Given the description of an element on the screen output the (x, y) to click on. 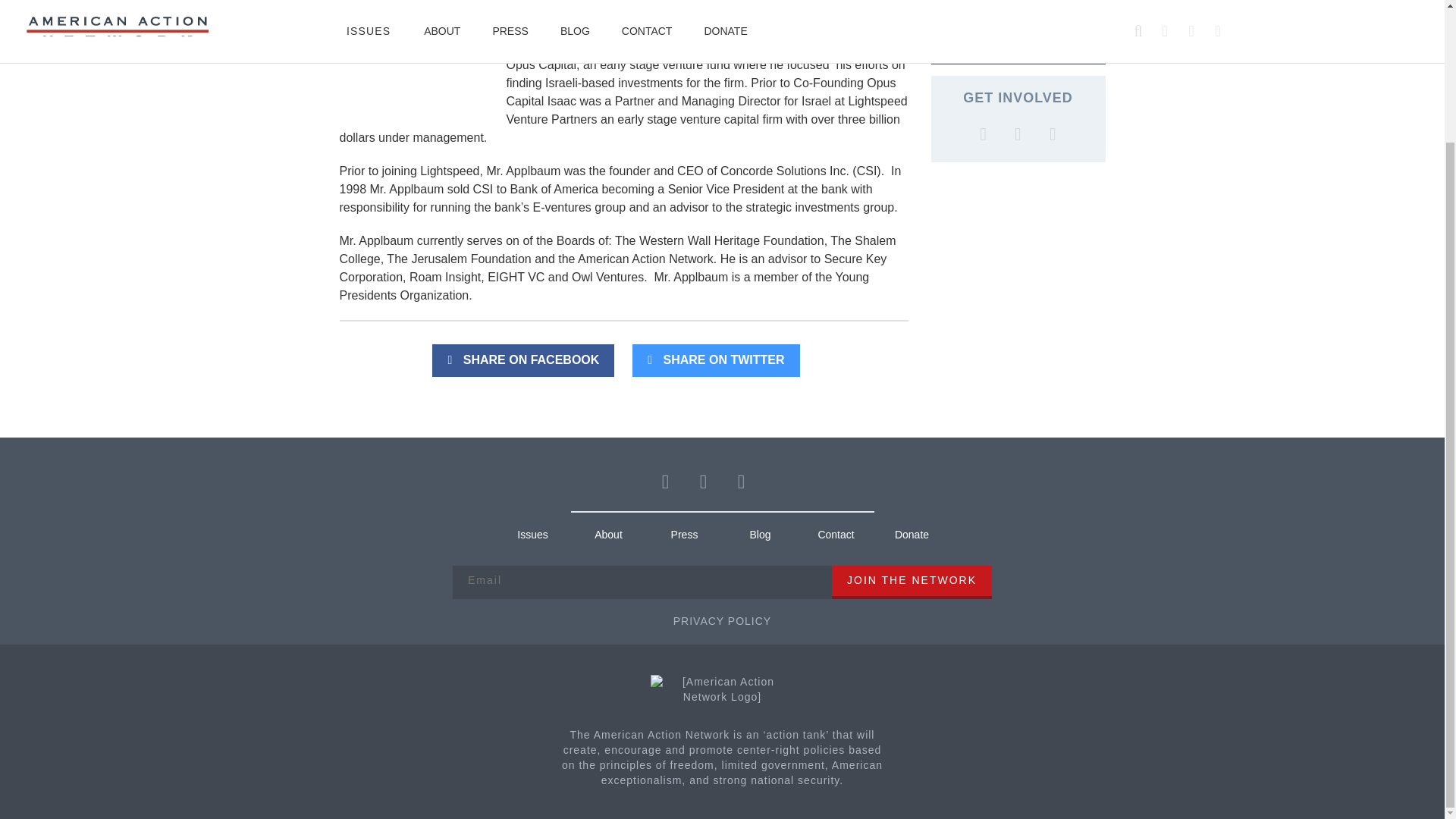
Join the Network (911, 581)
SHARE ON TWITTER (715, 359)
SHARE ON FACEBOOK (522, 359)
